Given the description of an element on the screen output the (x, y) to click on. 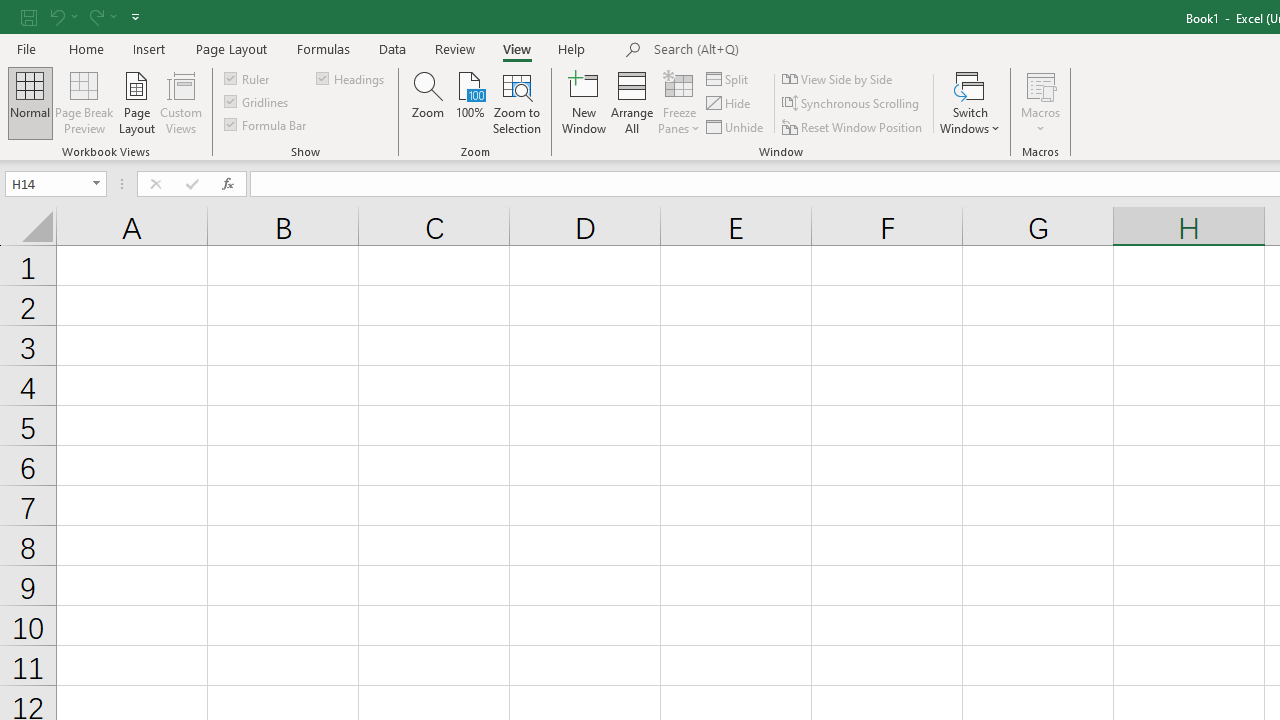
New Window (584, 102)
Reset Window Position (854, 126)
Custom Views... (180, 102)
Unhide... (736, 126)
Split (728, 78)
Zoom to Selection (517, 102)
View Side by Side (838, 78)
Gridlines (257, 101)
Headings (351, 78)
